Given the description of an element on the screen output the (x, y) to click on. 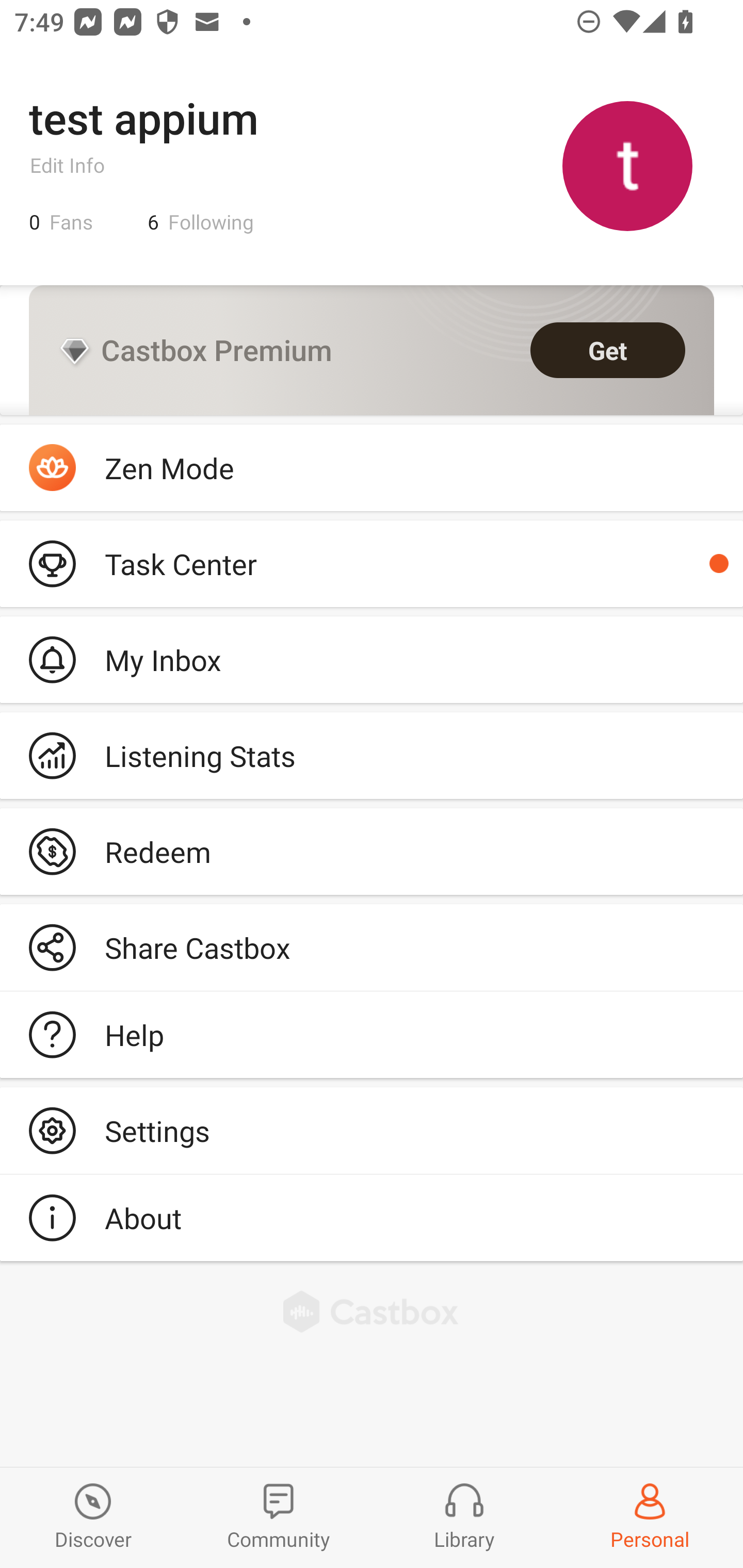
test appium Edit Info 0 Fans 6 Following (371, 165)
0 Fans (60, 221)
6 Following (200, 221)
Castbox Premium Get (371, 350)
Get (607, 350)
Zen Mode (371, 467)
Podcaster  Task Center (371, 563)
 My Inbox (371, 659)
 Listening Stats (371, 755)
 Redeem (371, 851)
 Share Castbox (371, 947)
 Help (371, 1034)
 Settings (371, 1130)
 About (371, 1217)
Discover (92, 1517)
Community (278, 1517)
Library (464, 1517)
Profiles and Settings Personal (650, 1517)
